Given the description of an element on the screen output the (x, y) to click on. 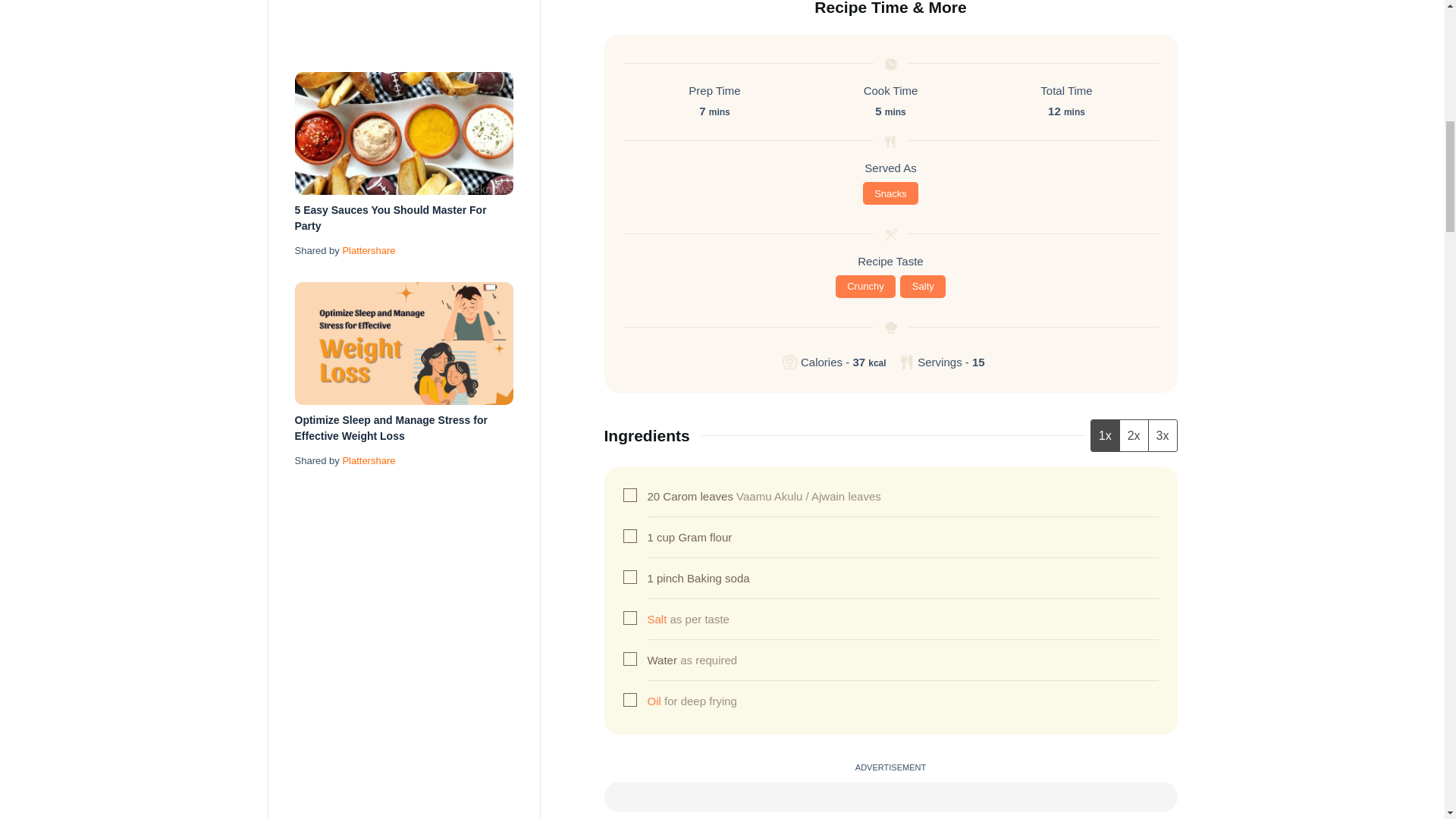
Salty (921, 286)
Snacks (890, 192)
3x (1162, 436)
2x (1133, 436)
Crunchy (865, 286)
